Given the description of an element on the screen output the (x, y) to click on. 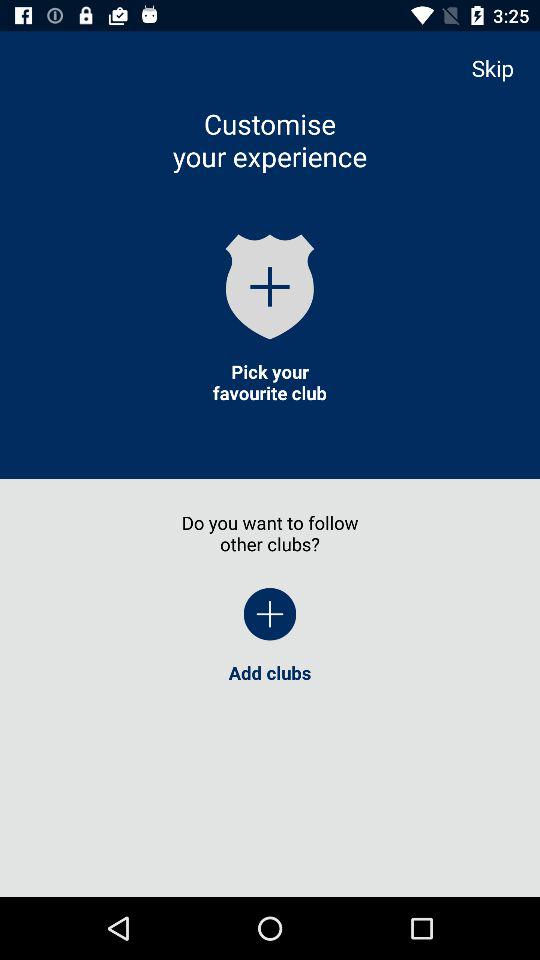
turn on icon above pick your favourite icon (269, 286)
